Given the description of an element on the screen output the (x, y) to click on. 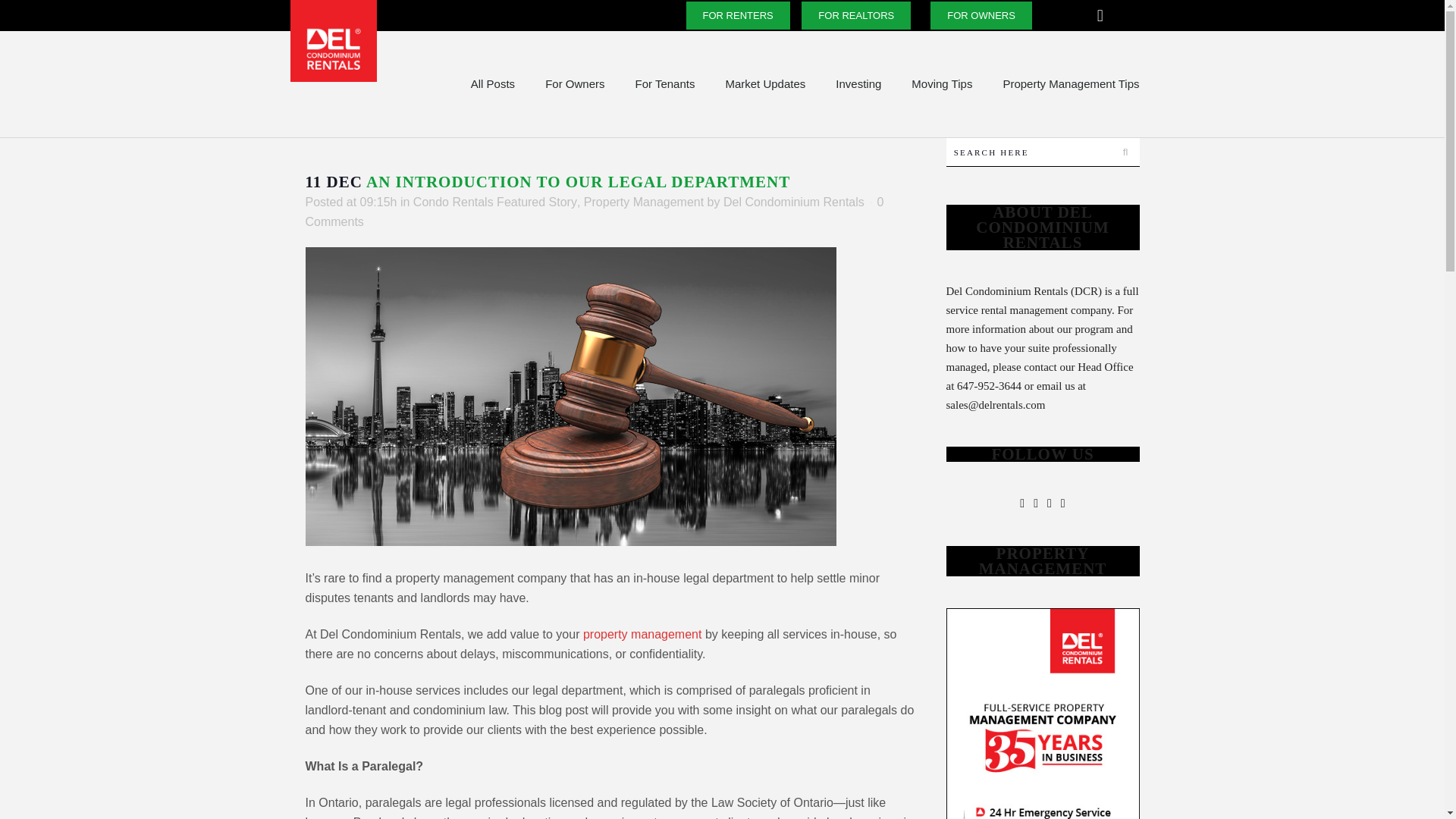
FOR OWNERS (981, 15)
Condo Rentals Featured Story (494, 201)
Property Management Tips (1070, 84)
Property Management (643, 201)
FOR RENTERS (737, 15)
Market Updates (765, 84)
Del Condominium Rentals (793, 201)
property management (642, 634)
0 Comments (593, 211)
FOR REALTORS (856, 15)
